Given the description of an element on the screen output the (x, y) to click on. 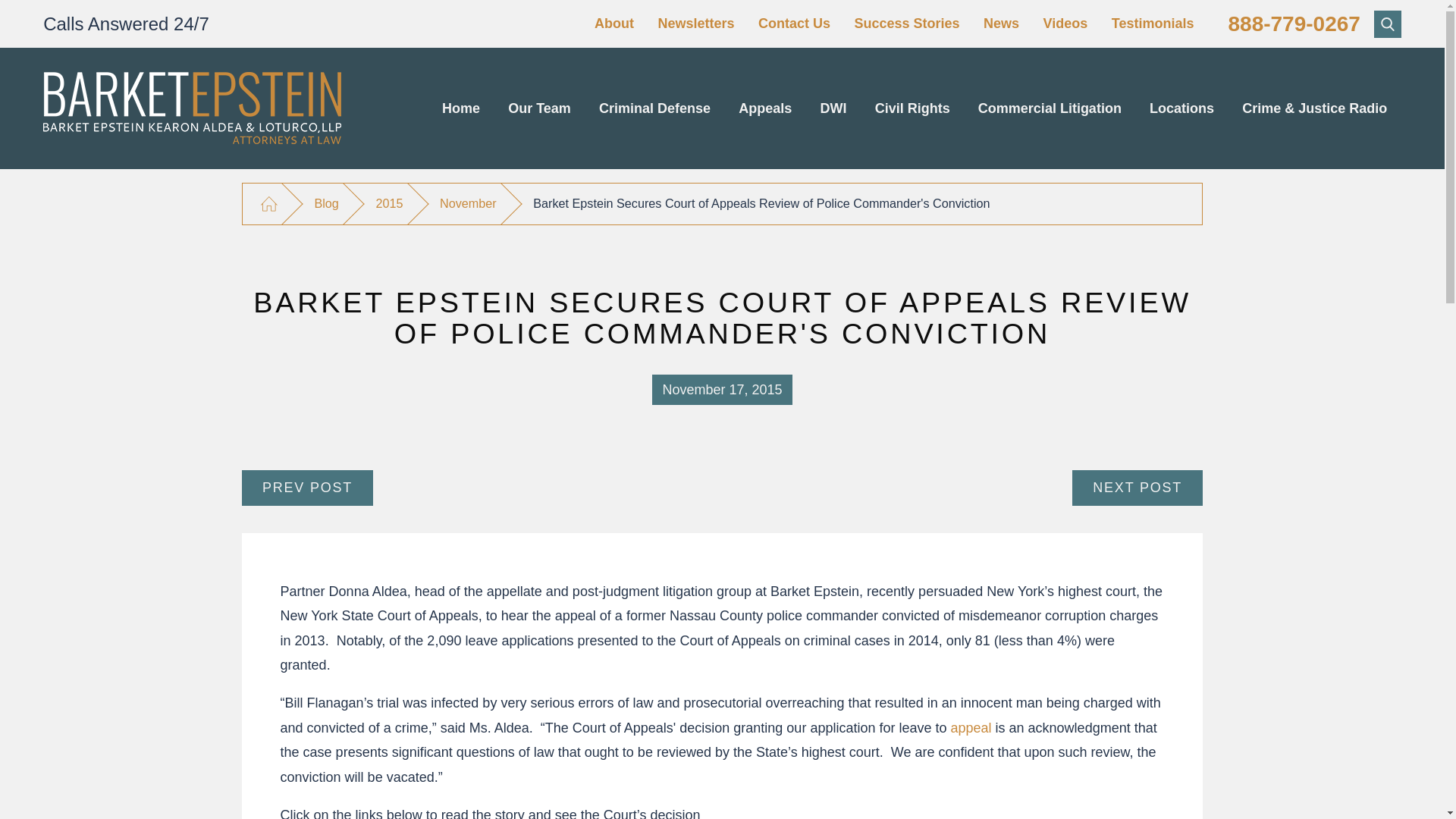
Newsletters (695, 23)
Search Our Site (1387, 23)
News (1001, 23)
888-779-0267 (1293, 23)
Videos (1065, 23)
Contact Us (793, 23)
Success Stories (906, 23)
Go Home (269, 203)
About (613, 23)
Search Icon (1387, 23)
